Given the description of an element on the screen output the (x, y) to click on. 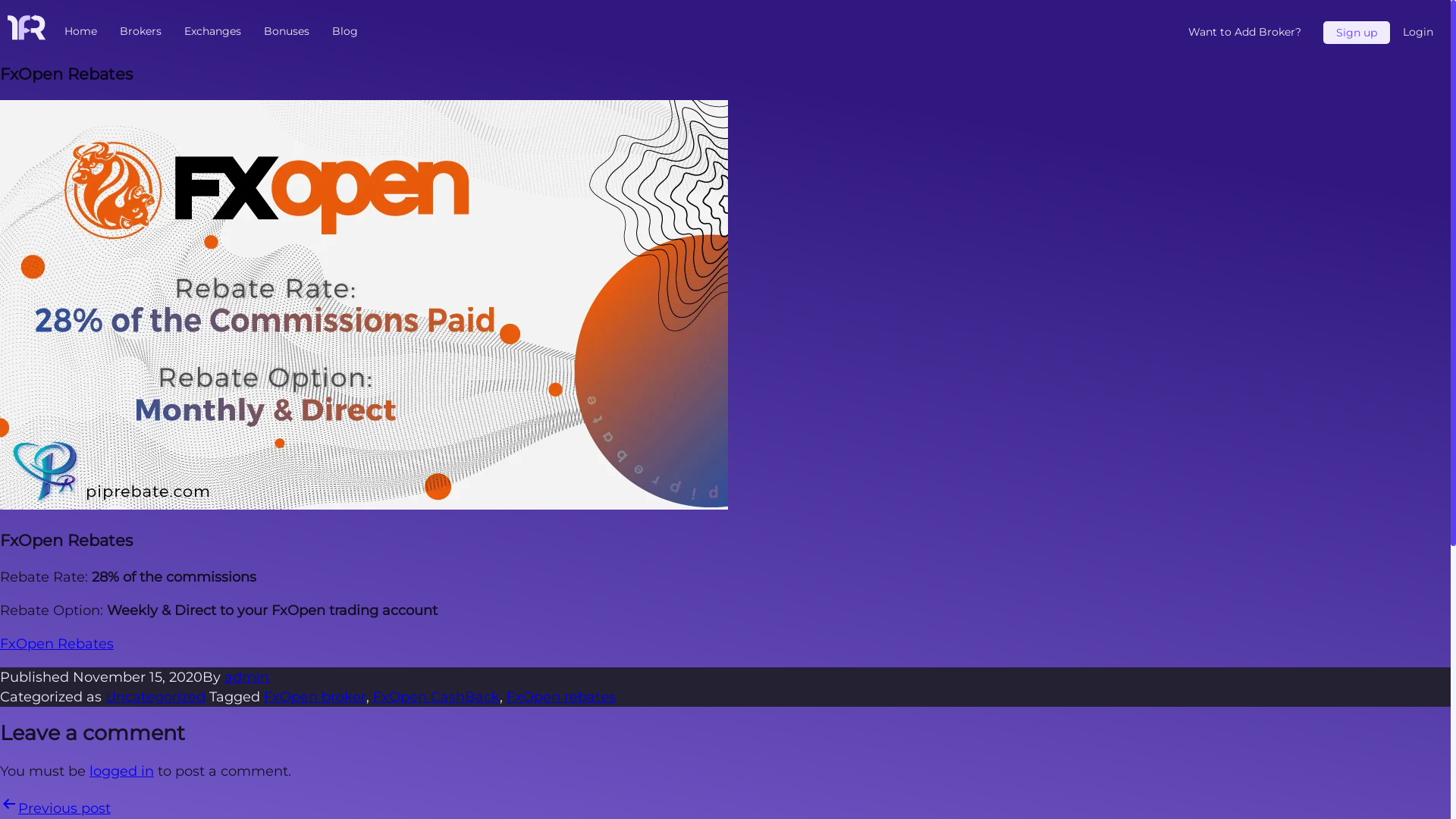
FxOpen Rebates Element type: text (56, 643)
FxOpen broker Element type: text (314, 696)
Bonuses Element type: text (286, 30)
Exchanges Element type: text (212, 30)
FxOpen CashBack Element type: text (436, 696)
Uncategorized Element type: text (155, 696)
Login Element type: text (1417, 32)
logged in Element type: text (121, 770)
Home Element type: text (80, 30)
FxOpen rebates Element type: text (560, 696)
Want to Add Broker? Element type: text (1244, 32)
Blog Element type: text (344, 30)
admin Element type: text (246, 676)
Brokers Element type: text (140, 30)
Sign up Element type: text (1356, 32)
